Given the description of an element on the screen output the (x, y) to click on. 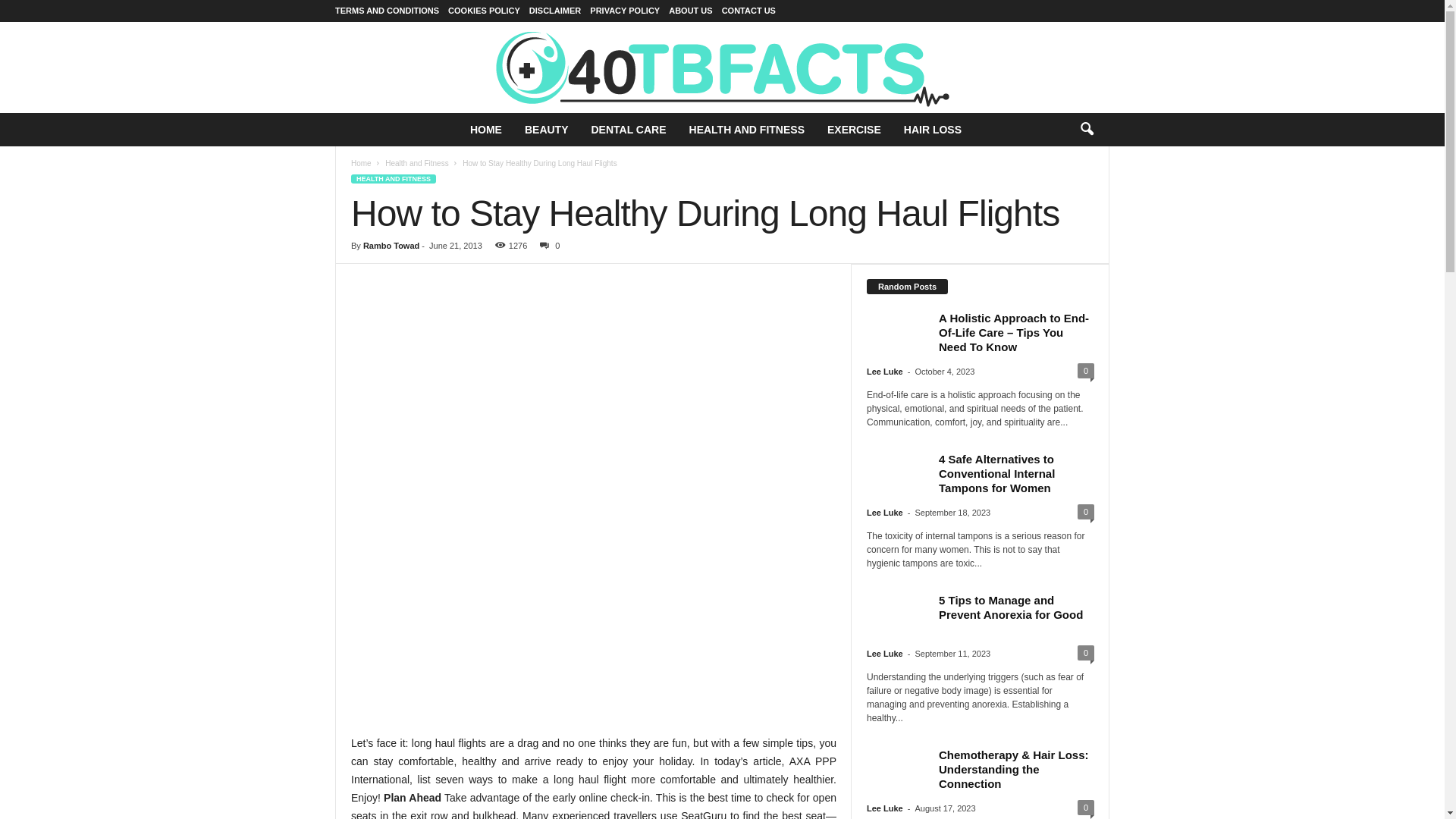
PRIVACY POLICY Element type: text (624, 10)
0 Element type: text (1085, 370)
Lee Luke Element type: text (884, 371)
Rambo Towad Element type: text (391, 245)
Chemotherapy & Hair Loss: Understanding the Connection Element type: text (1013, 769)
CONTACT US Element type: text (748, 10)
Lee Luke Element type: text (884, 512)
5 Tips to Manage and Prevent Anorexia for Good Element type: text (1010, 607)
BEAUTY Element type: text (546, 129)
0 Element type: text (1085, 652)
Lee Luke Element type: text (884, 653)
HOME Element type: text (485, 129)
Home Element type: text (361, 163)
HAIR LOSS Element type: text (932, 129)
DISCLAIMER Element type: text (554, 10)
DENTAL CARE Element type: text (628, 129)
0 Element type: text (1085, 807)
0 Element type: text (1085, 511)
Chemotherapy & Hair Loss: Understanding the Connection Element type: hover (896, 770)
HEALTH AND FITNESS Element type: text (746, 129)
5 Tips to Manage and Prevent Anorexia for Good Element type: hover (896, 615)
0 Element type: text (546, 245)
ABOUT US Element type: text (690, 10)
EXERCISE Element type: text (853, 129)
HEALTH AND FITNESS Element type: text (393, 178)
40tbfacts Your Daily dose off well-being Element type: text (722, 66)
COOKIES POLICY Element type: text (484, 10)
Health and Fitness Element type: text (416, 163)
TERMS AND CONDITIONS Element type: text (387, 10)
Lee Luke Element type: text (884, 807)
